Given the description of an element on the screen output the (x, y) to click on. 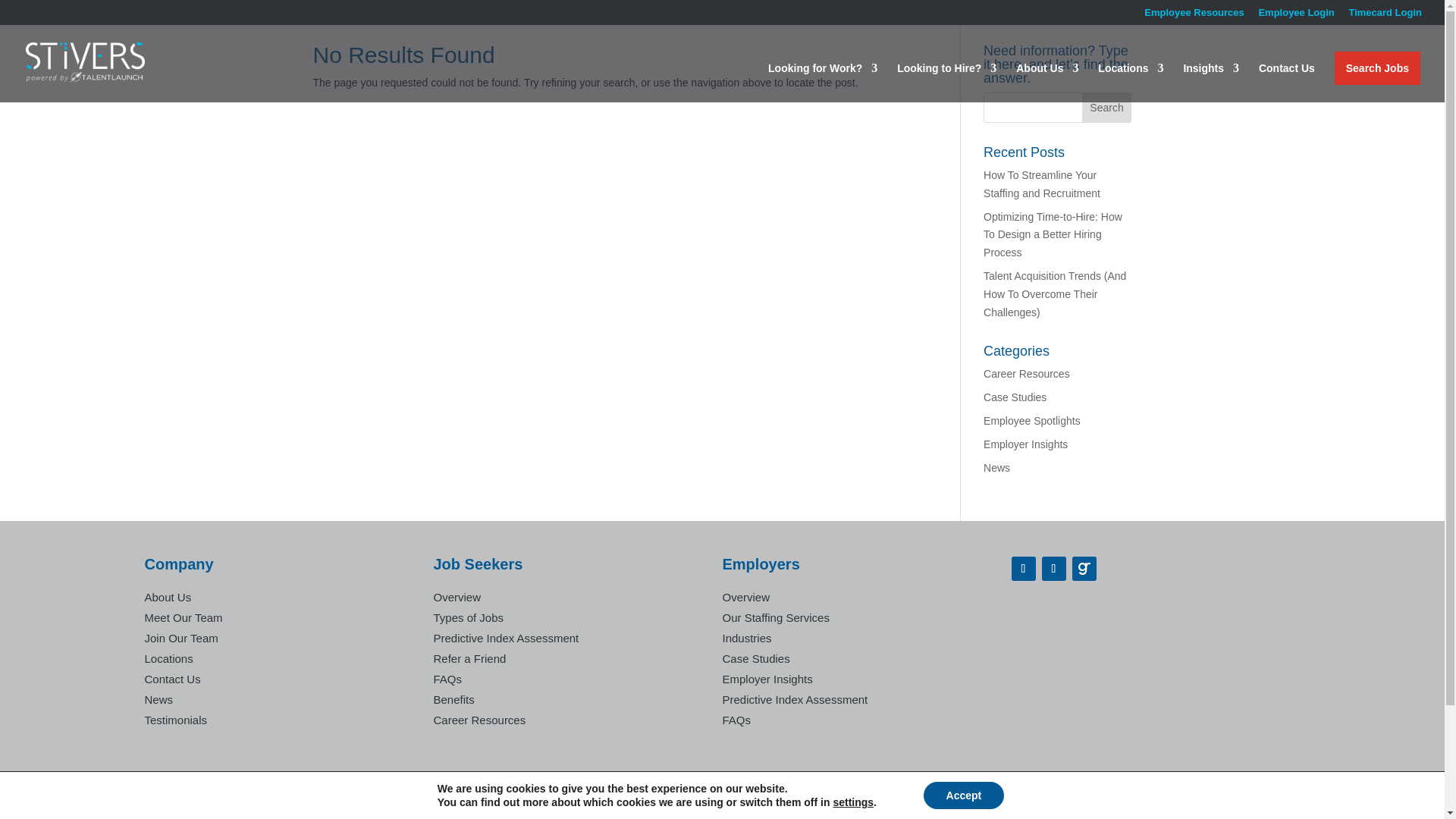
Looking for Work? (822, 82)
Timecard Login (1385, 16)
Looking to Hire? (945, 82)
Employee Resources (1194, 16)
Insights (1210, 82)
Follow on google-plus (1083, 568)
Locations (1130, 82)
Search Jobs (1378, 68)
Follow on LinkedIn (1053, 568)
Follow on Facebook (1023, 568)
